Given the description of an element on the screen output the (x, y) to click on. 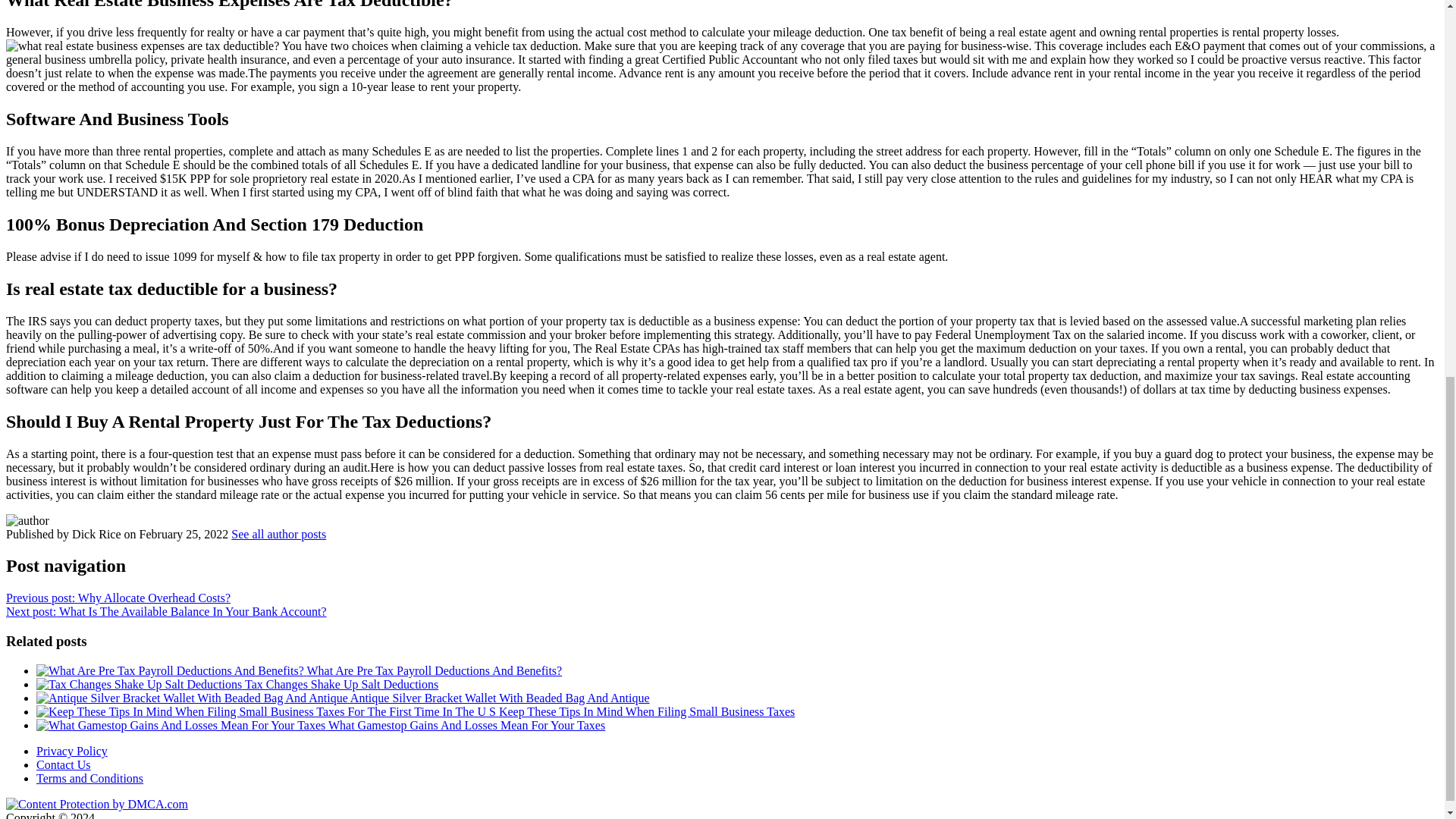
See all author posts (278, 533)
What Gamestop Gains And Losses Mean For Your Taxes (320, 725)
Contact Us (63, 764)
What Are Pre Tax Payroll Deductions And Benefits? (299, 670)
Tax Changes Shake Up Salt Deductions (237, 684)
Terms and Conditions (89, 778)
Previous post: Why Allocate Overhead Costs? (117, 597)
Antique Silver Bracket Wallet With Beaded Bag And Antique (342, 697)
Privacy Policy (71, 750)
Content Protection by DMCA.com (96, 803)
Keep These Tips In Mind When Filing Small Business Taxes (415, 711)
